Given the description of an element on the screen output the (x, y) to click on. 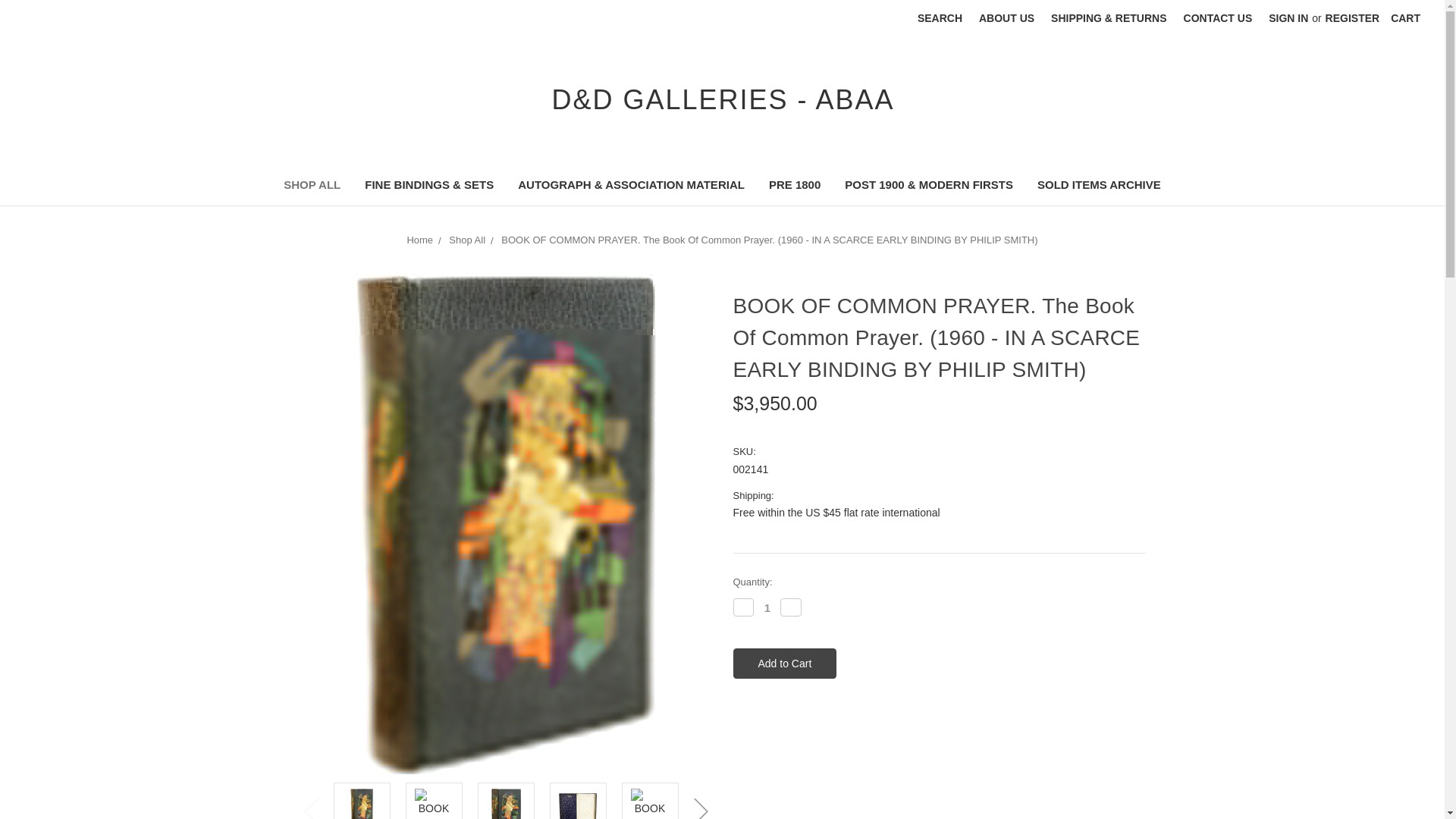
1 (767, 607)
SOLD ITEMS ARCHIVE (1099, 186)
Previous (310, 803)
REGISTER (1353, 18)
SHOP ALL (311, 186)
Next (700, 803)
PRE 1800 (794, 186)
Increase Quantity: (791, 607)
Home (419, 239)
Decrease Quantity: (743, 607)
